Given the description of an element on the screen output the (x, y) to click on. 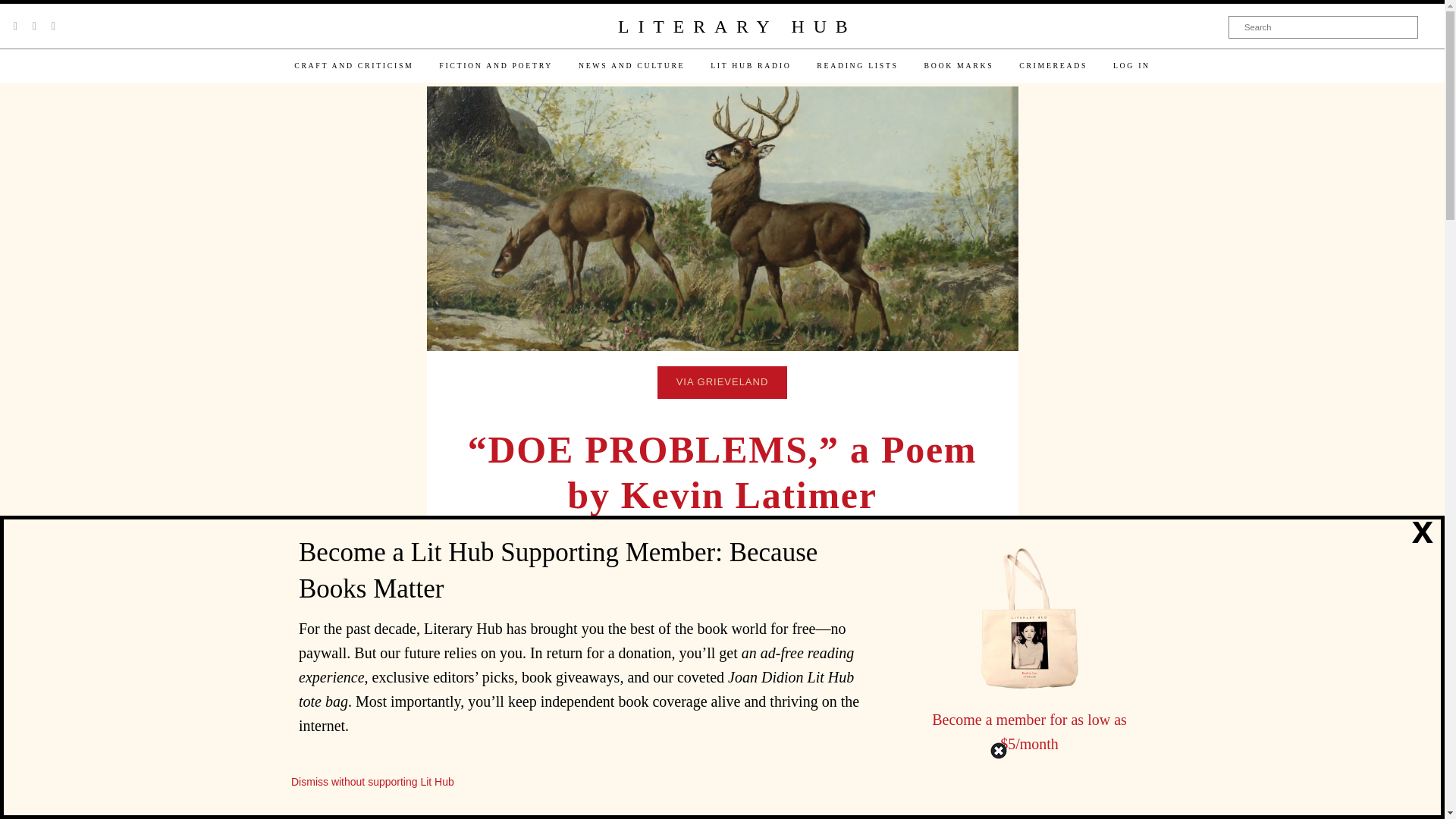
Share on Facebook (879, 602)
LITERARY HUB (736, 26)
CRAFT AND CRITICISM (353, 65)
Search (1323, 26)
FICTION AND POETRY (496, 65)
NEWS AND CULTURE (631, 65)
Click to share on Twitter (909, 602)
